Given the description of an element on the screen output the (x, y) to click on. 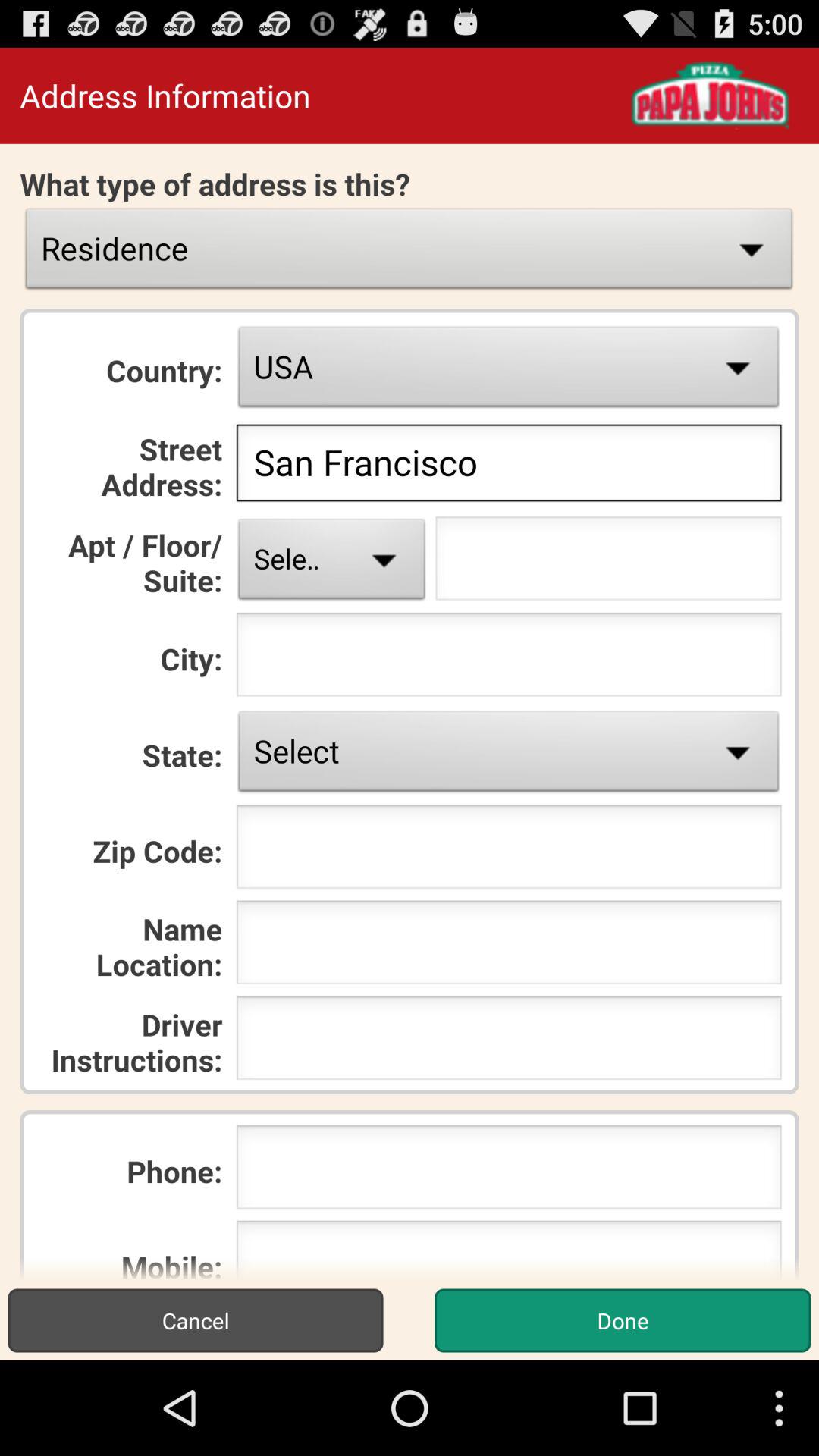
go to zipcode (508, 851)
